Given the description of an element on the screen output the (x, y) to click on. 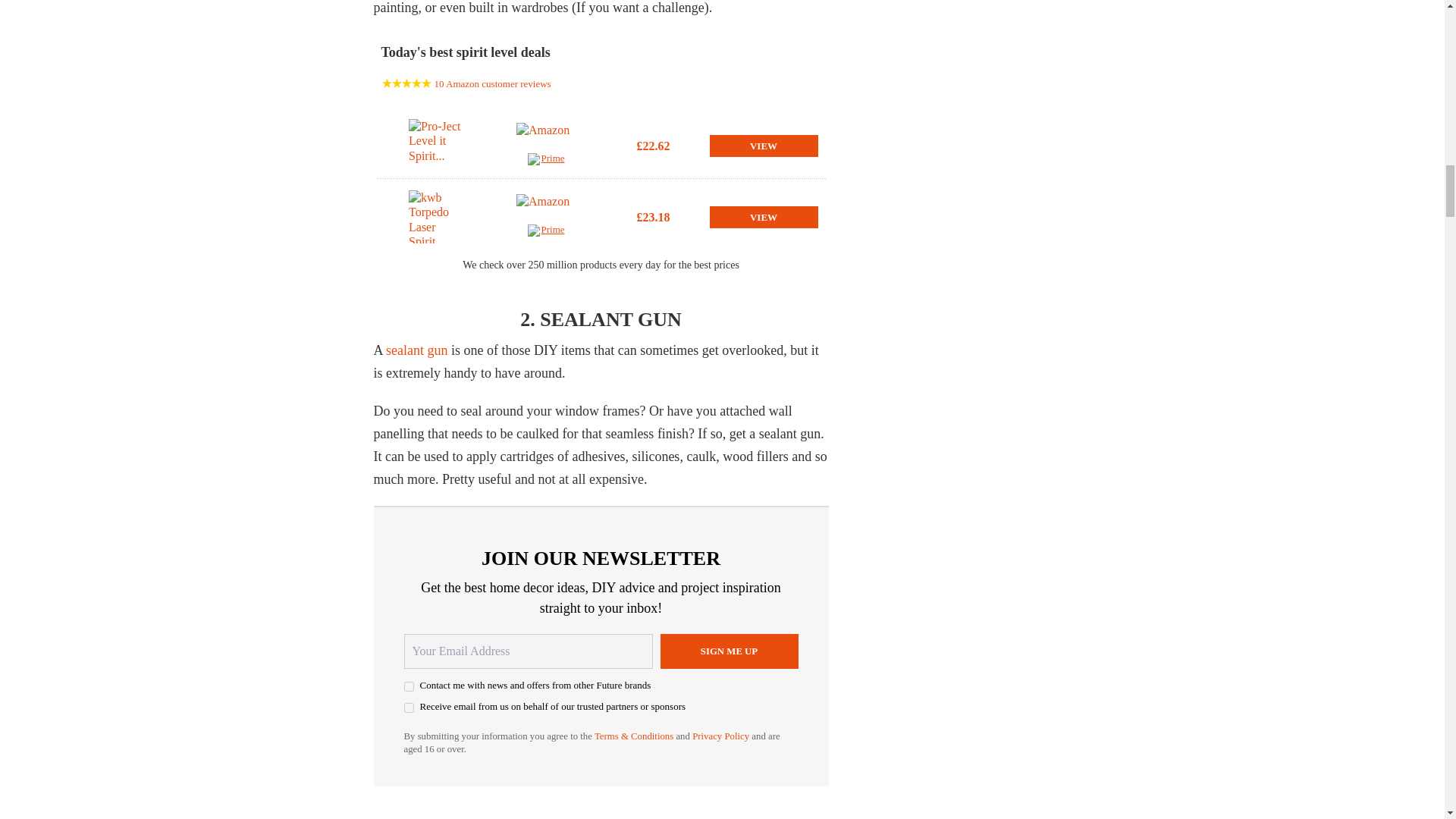
Amazon (546, 209)
Amazon (546, 137)
kwb Torpedo Laser Spirit... (438, 216)
on (408, 686)
Pro-Ject Level it Spirit... (438, 144)
on (408, 707)
Prime (546, 232)
Prime (546, 160)
Sign me up (728, 651)
